Given the description of an element on the screen output the (x, y) to click on. 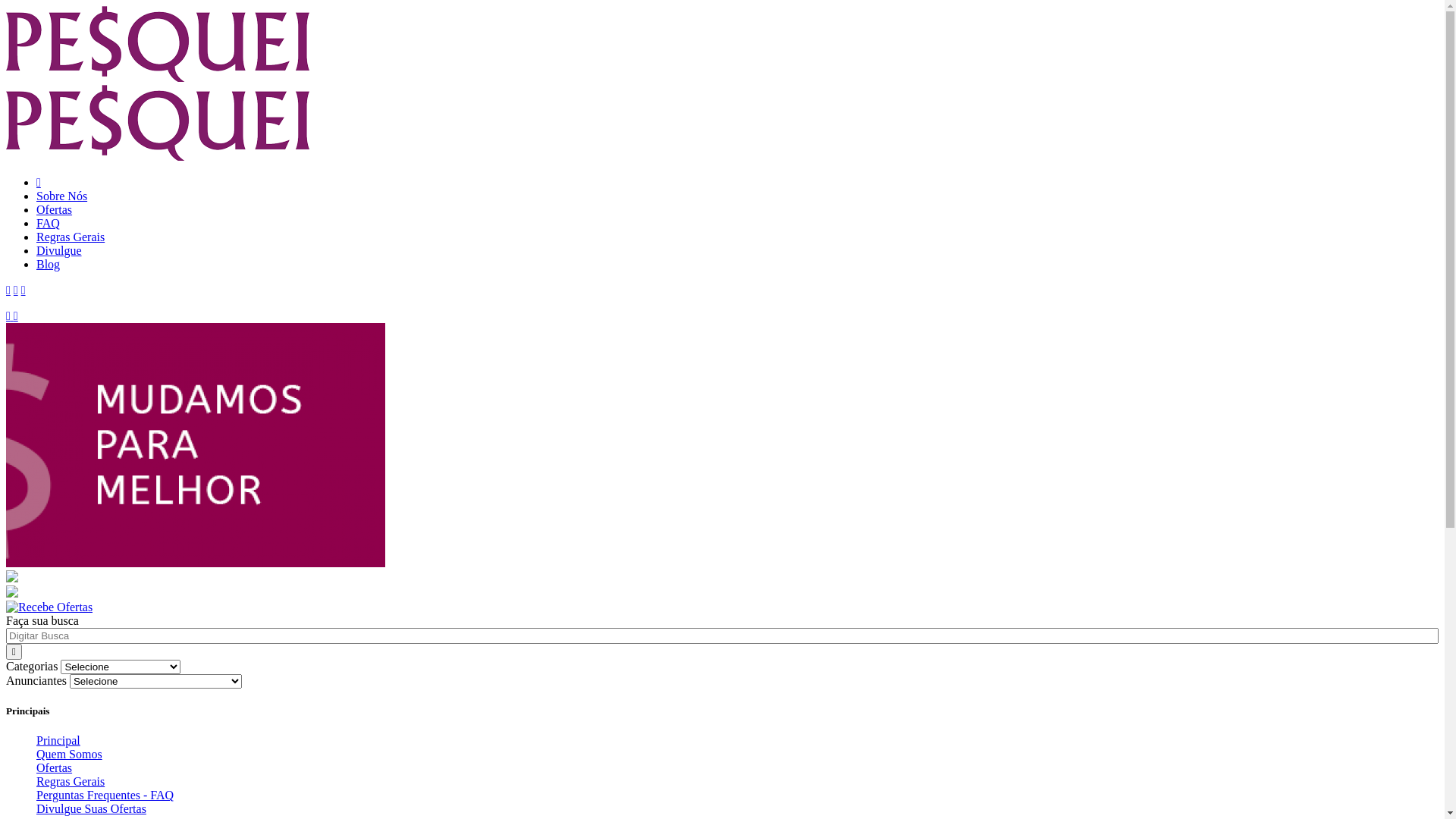
Recebe Ofertas Element type: hover (49, 607)
Divulgue Suas Ofertas Element type: text (91, 808)
Ofertas Element type: text (54, 767)
Regras Gerais Element type: text (70, 781)
Divulgue Element type: text (58, 250)
Next Element type: text (15, 315)
Blog Element type: text (47, 263)
Ofertas Element type: text (54, 209)
Previous Element type: text (9, 315)
Principal Element type: text (58, 740)
FAQ Element type: text (47, 222)
Regras Gerais Element type: text (70, 236)
Perguntas Frequentes - FAQ Element type: text (104, 794)
Pesquei Element type: hover (8, 289)
Quem Somos Element type: text (69, 753)
